Given the description of an element on the screen output the (x, y) to click on. 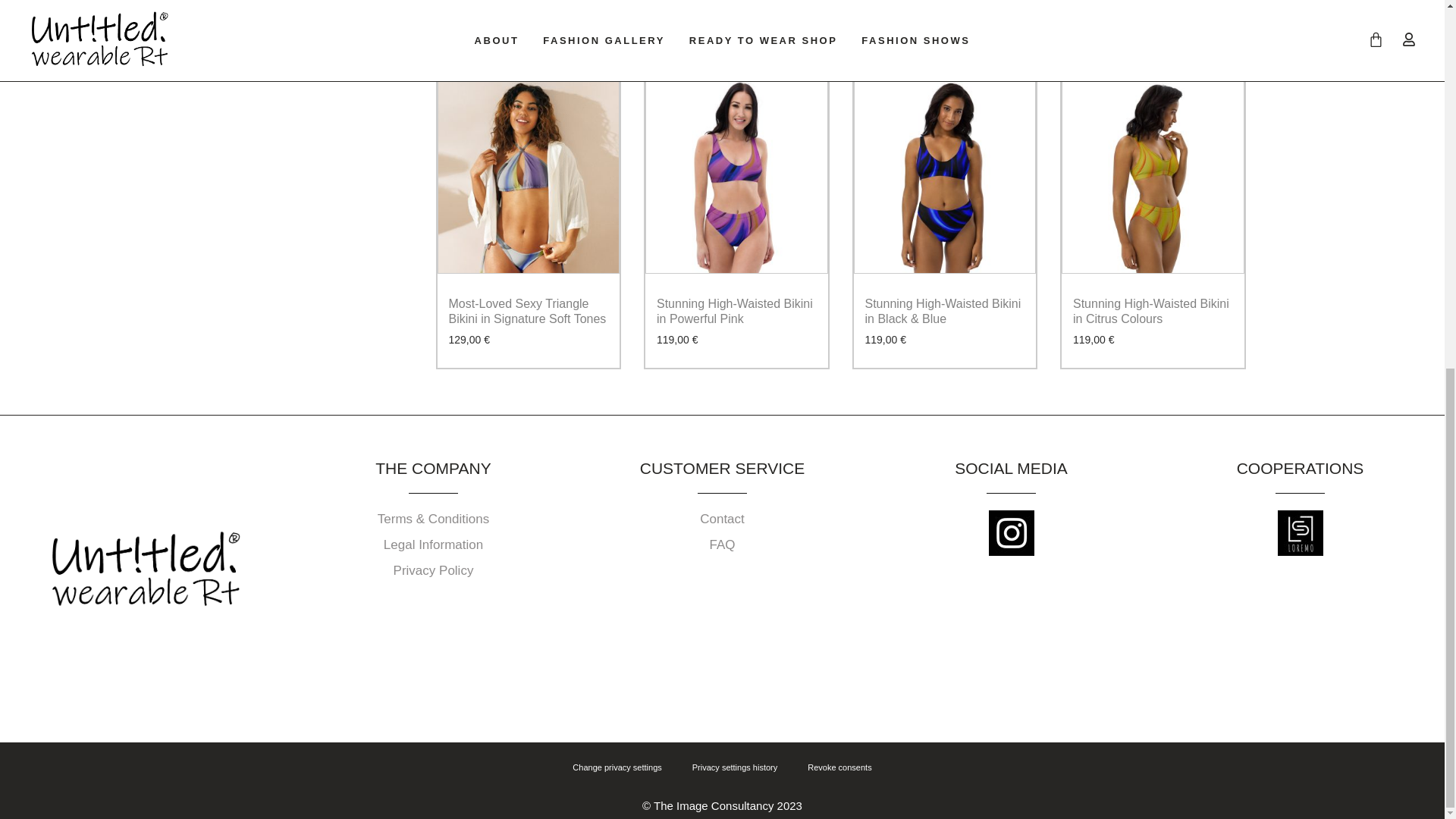
Logo-Insta-200 (1010, 532)
Logo-Loremo-200 (1299, 532)
